Given the description of an element on the screen output the (x, y) to click on. 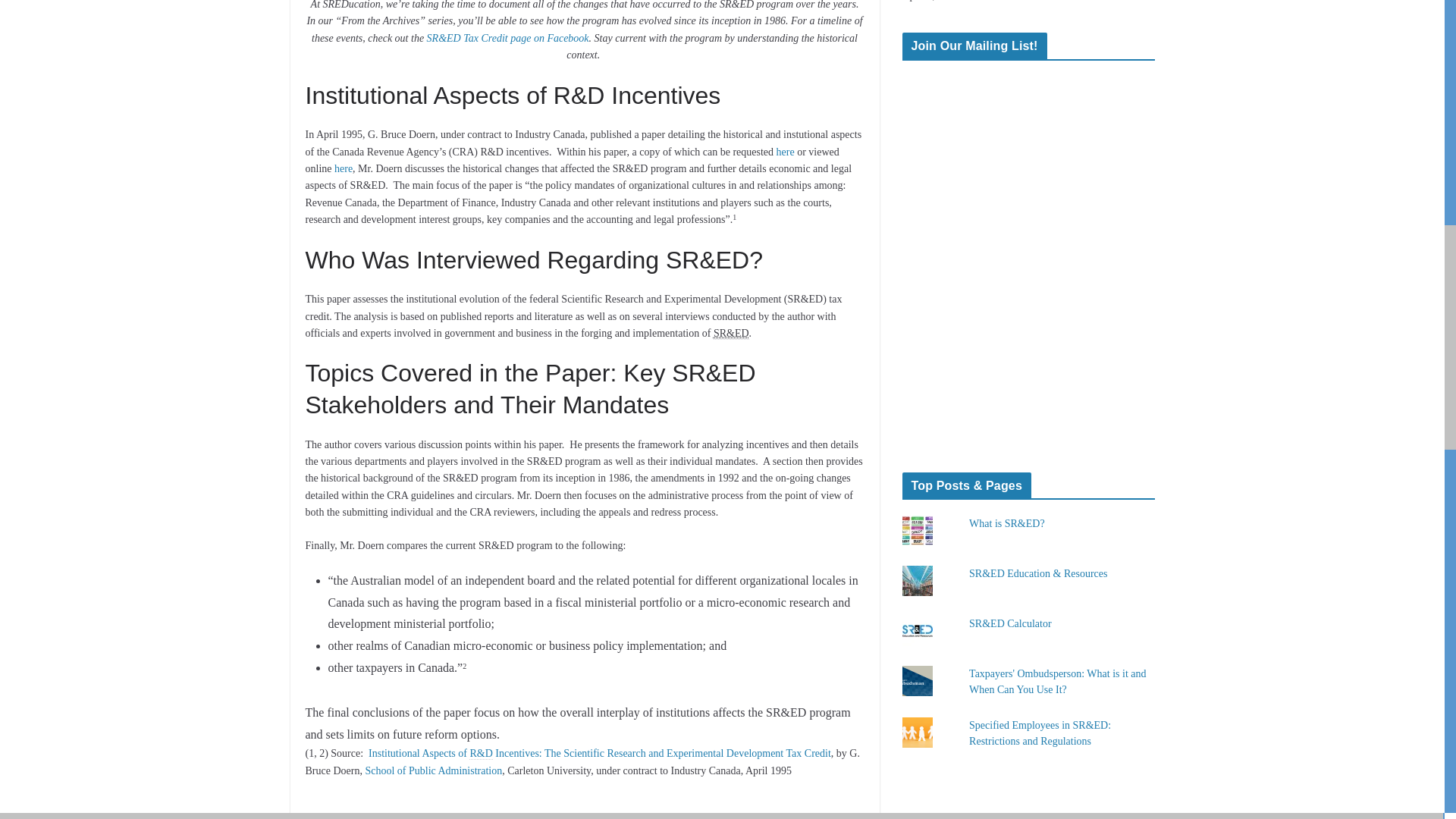
Form 0 (1028, 259)
Scientific Research and Experimental Development (731, 333)
